Given the description of an element on the screen output the (x, y) to click on. 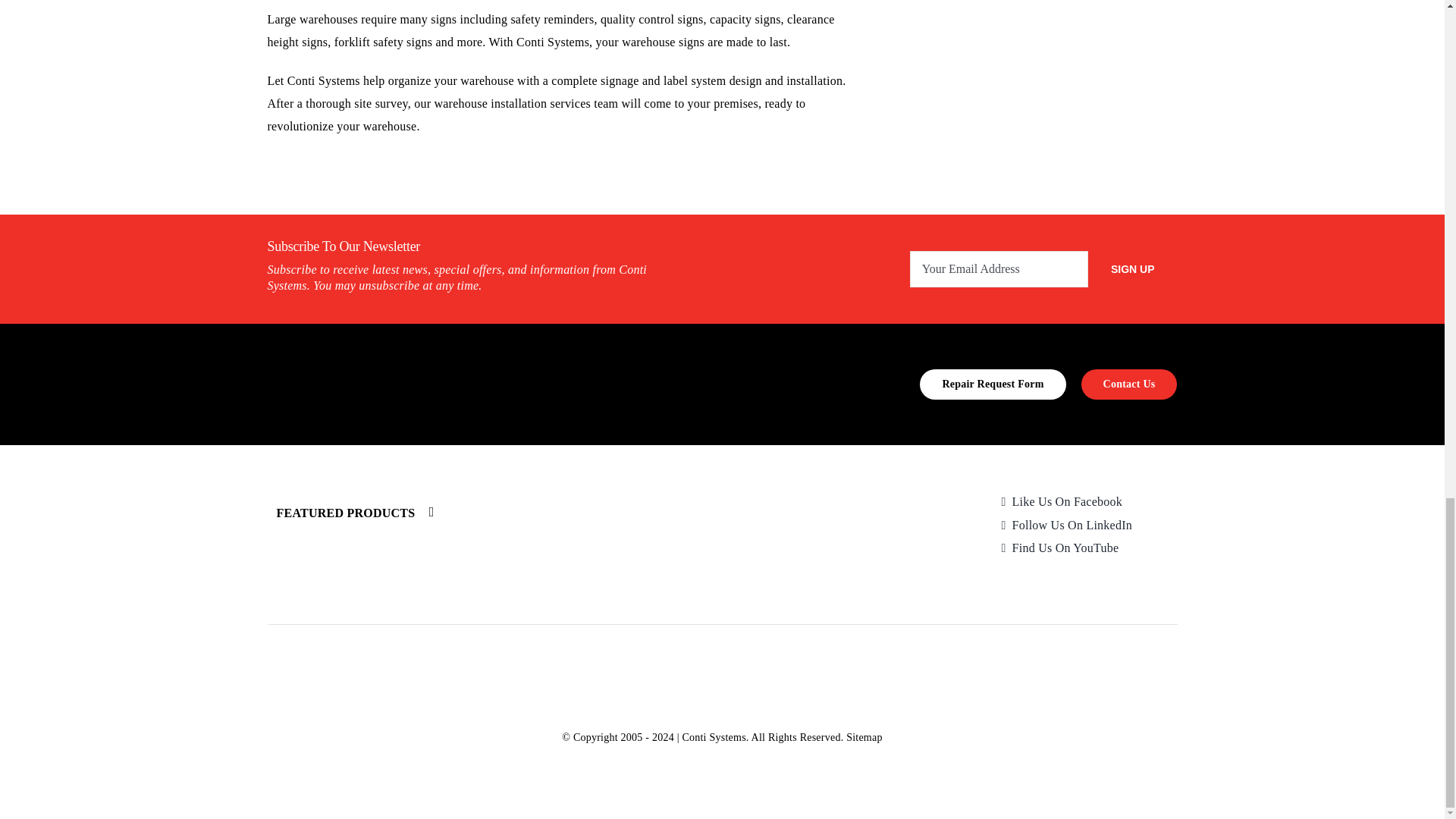
Sign up (1132, 268)
